Given the description of an element on the screen output the (x, y) to click on. 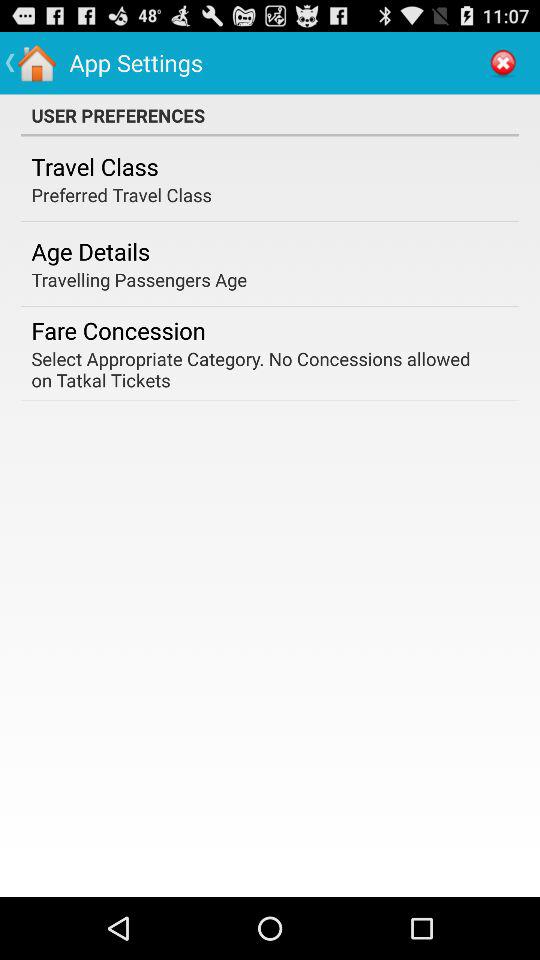
press the app above the select appropriate category item (118, 330)
